Given the description of an element on the screen output the (x, y) to click on. 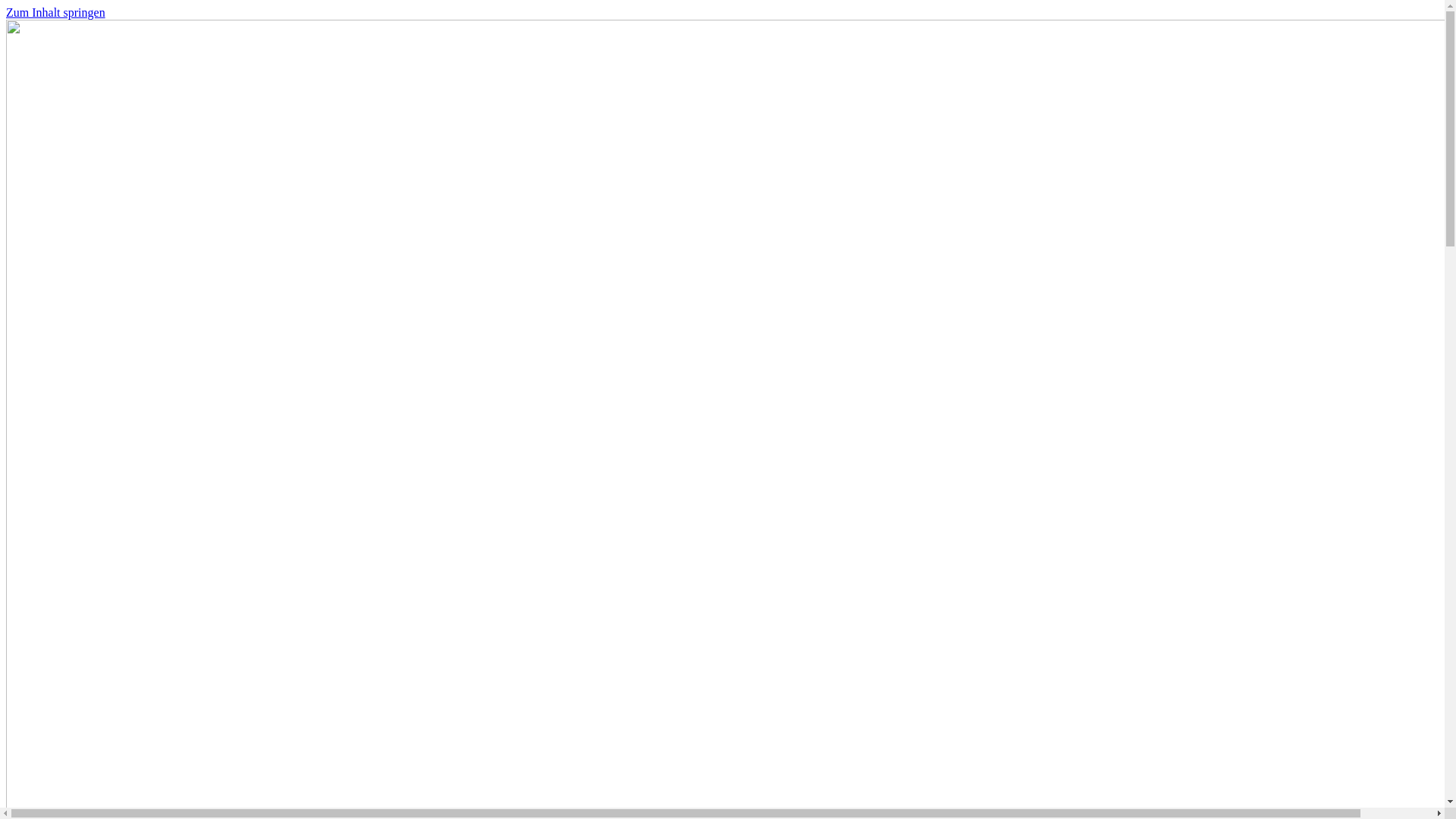
Zum Inhalt springen Element type: text (55, 12)
